Given the description of an element on the screen output the (x, y) to click on. 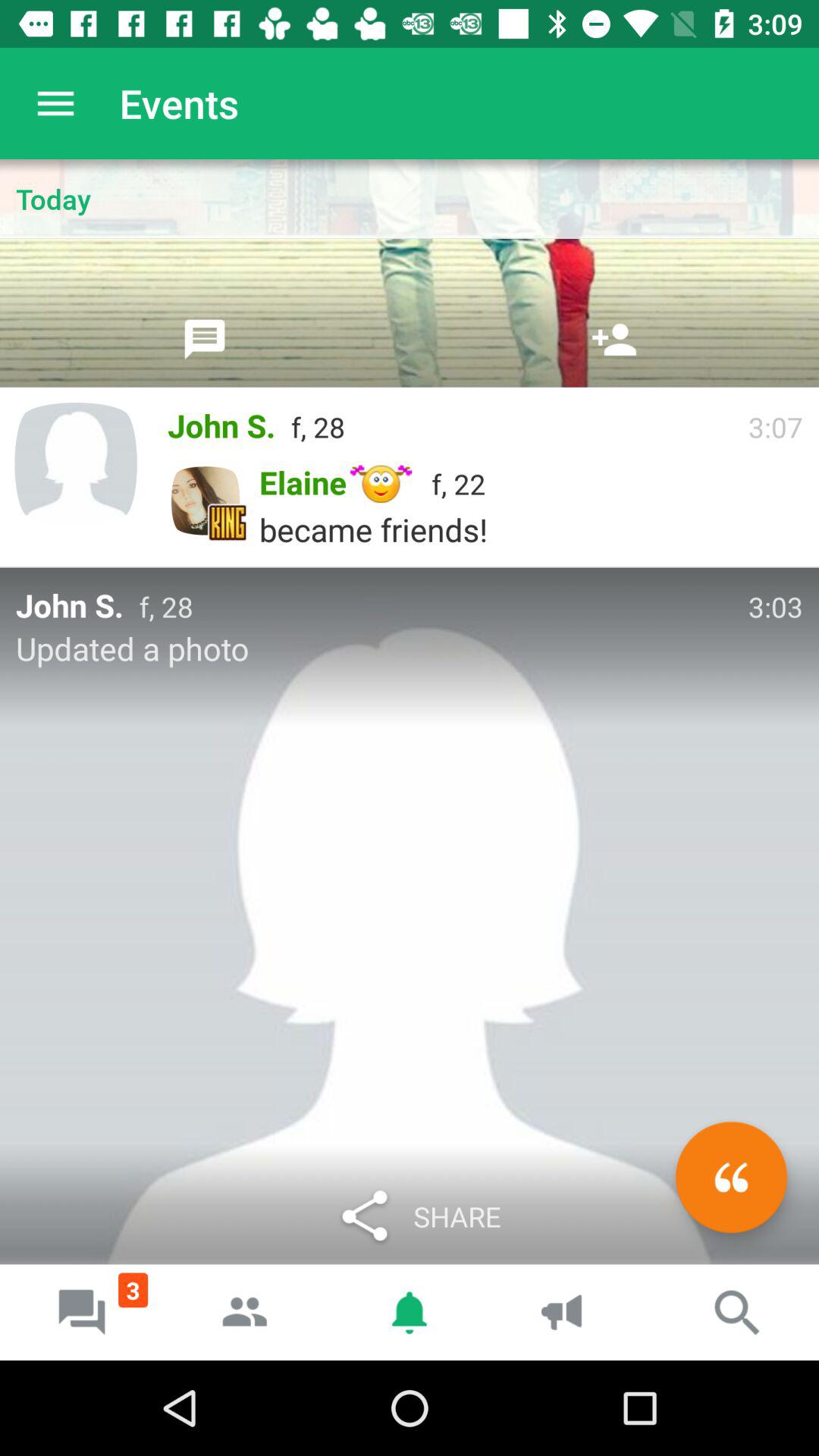
x (731, 1177)
